Given the description of an element on the screen output the (x, y) to click on. 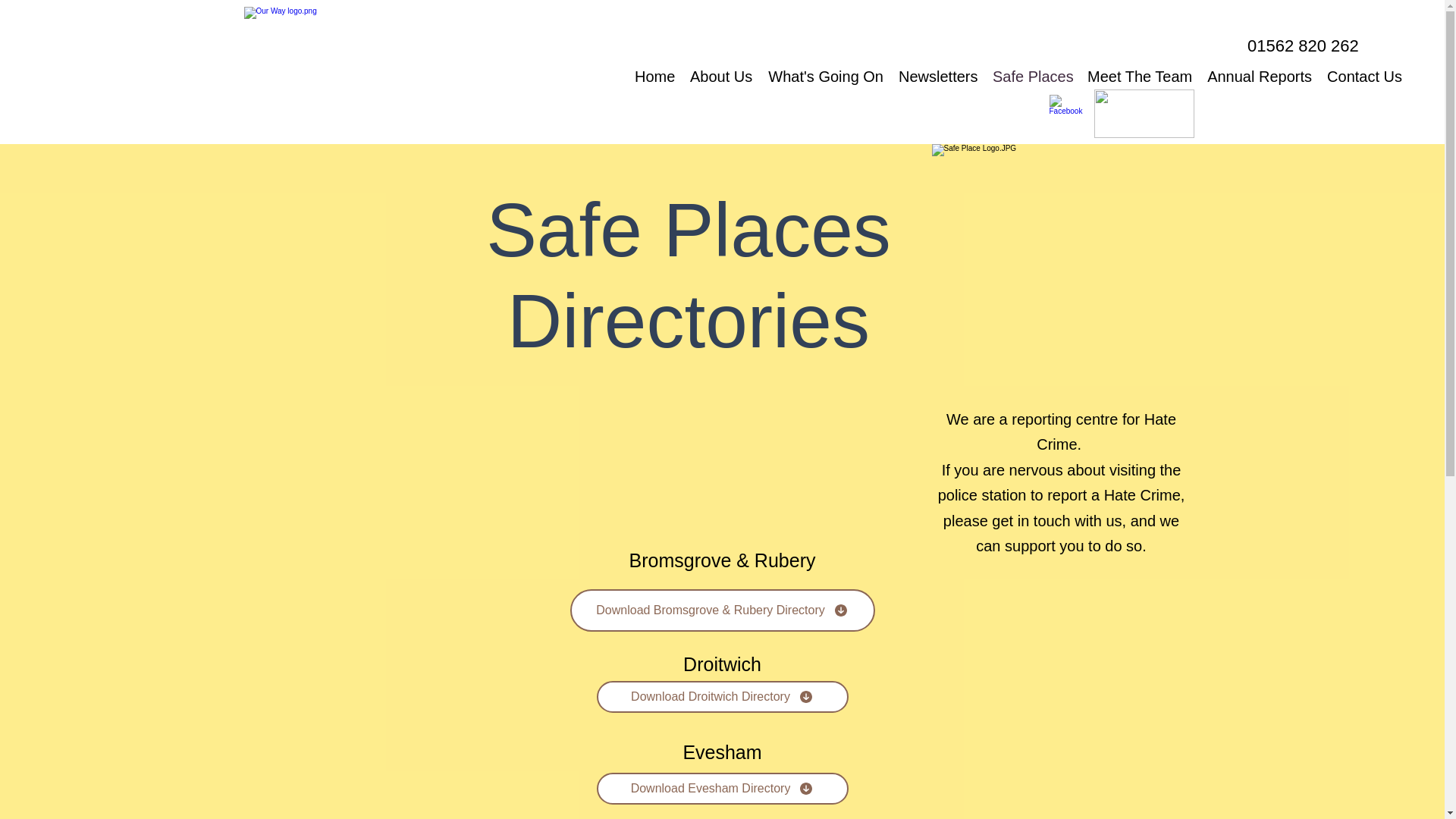
Safe Places (1032, 76)
What's Going On (825, 76)
Annual Reports (1259, 76)
Download Droitwich Directory (721, 696)
Home (654, 76)
digital-white-background.png (1143, 113)
Meet The Team (1139, 76)
Download Evesham Directory (721, 788)
About Us (721, 76)
Contact Us (1364, 76)
Newsletters (938, 76)
